Given the description of an element on the screen output the (x, y) to click on. 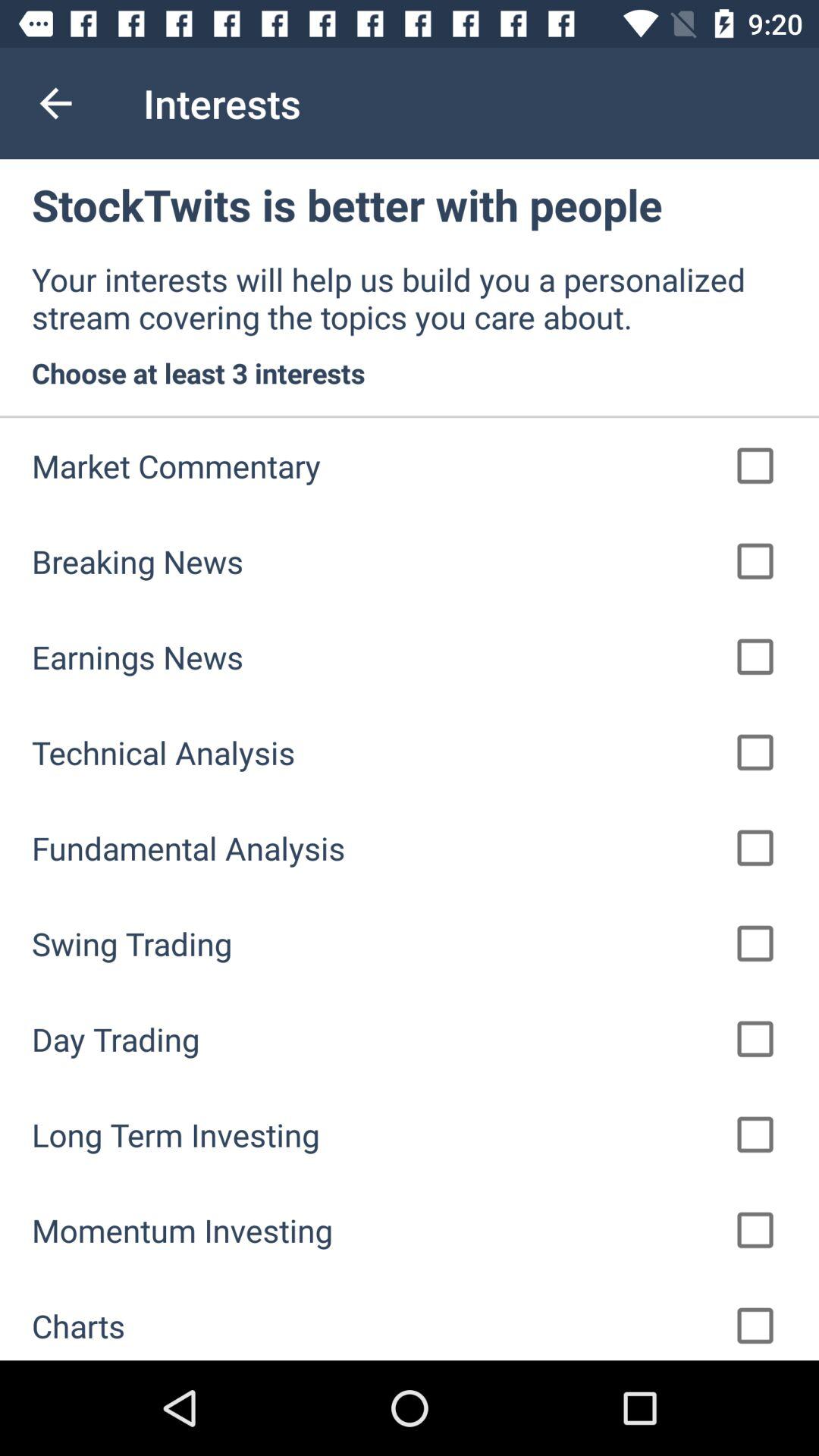
turn off the item to the left of interests (55, 103)
